Given the description of an element on the screen output the (x, y) to click on. 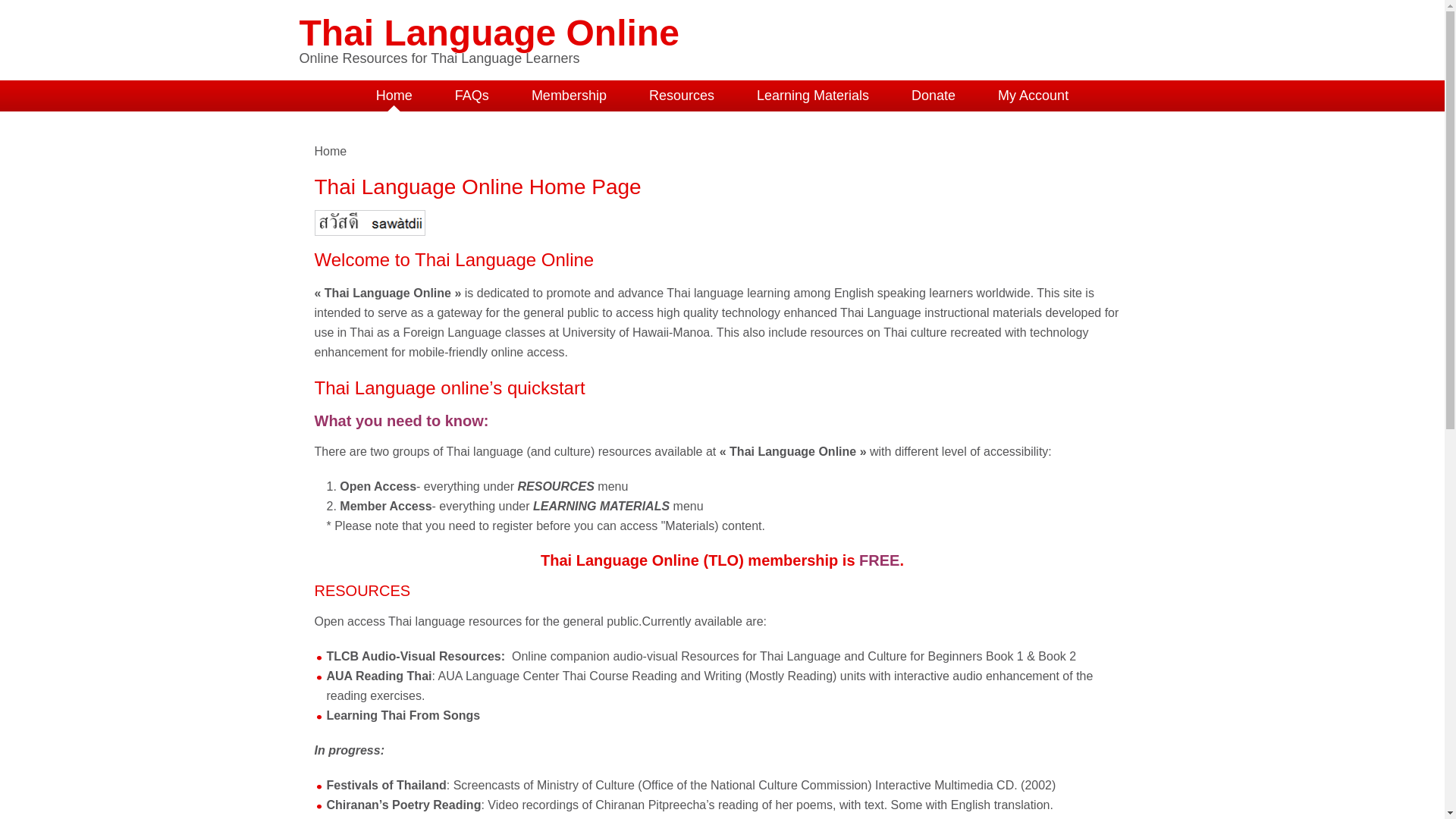
Thai Language Online (488, 33)
Resources (681, 95)
Learning Materials (812, 95)
Membership (569, 95)
Home (394, 95)
FAQs (472, 95)
